Given the description of an element on the screen output the (x, y) to click on. 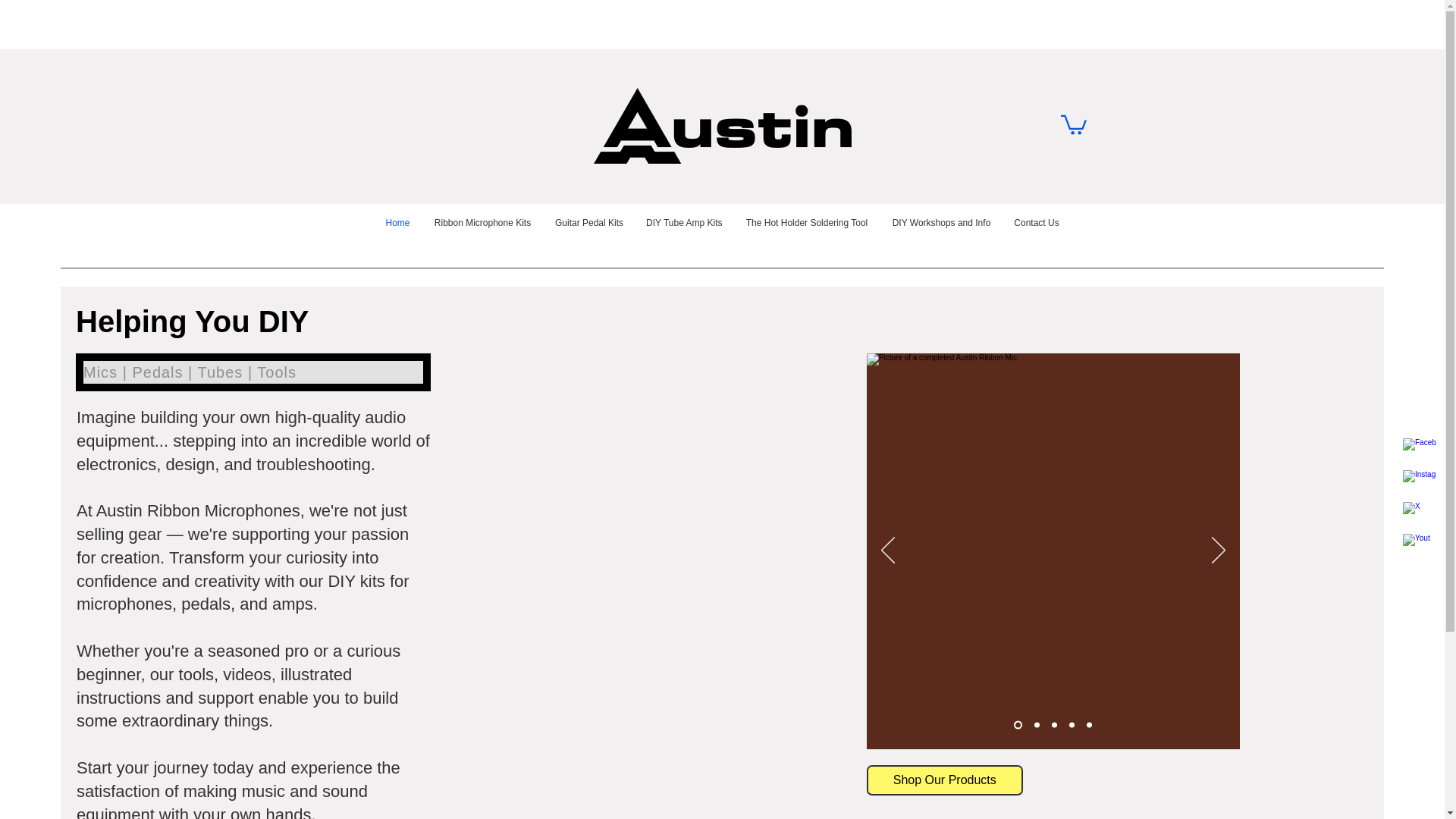
Shop Our Products (944, 779)
Guitar Pedal Kits (588, 222)
Home (398, 222)
Ribbon Microphone Kits (482, 222)
DIY Workshops and Info (941, 222)
DIY Tube Amp Kits (683, 222)
The Hot Holder Soldering Tool (806, 222)
Contact Us (1036, 222)
